Given the description of an element on the screen output the (x, y) to click on. 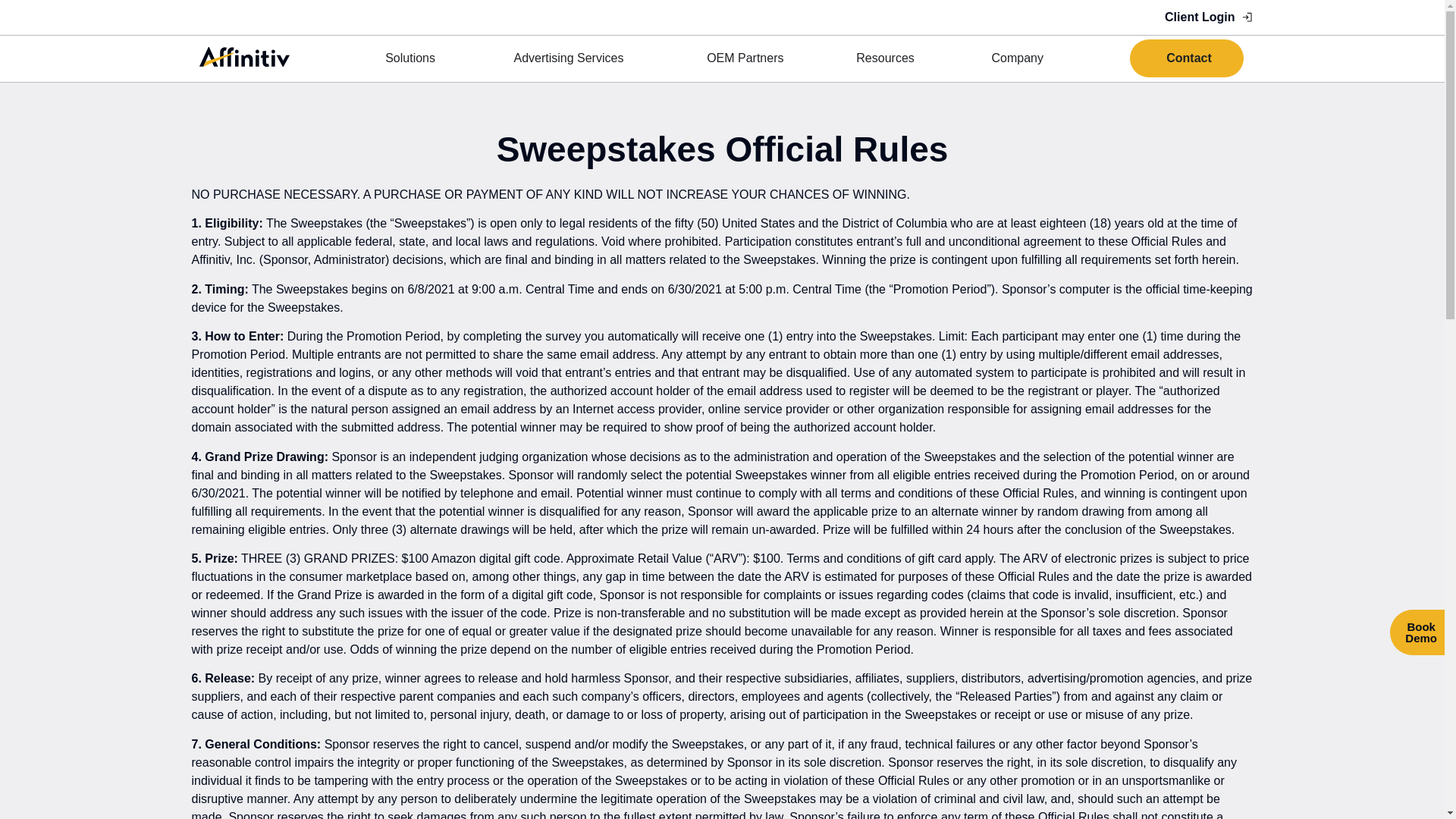
Solutions (413, 58)
Resources (887, 58)
Advertising Services (573, 58)
Company (1018, 58)
Contact (1186, 57)
Solutions (413, 58)
Resources (887, 58)
Client Login (1208, 17)
OEM Partners (746, 58)
Company (1018, 58)
